Given the description of an element on the screen output the (x, y) to click on. 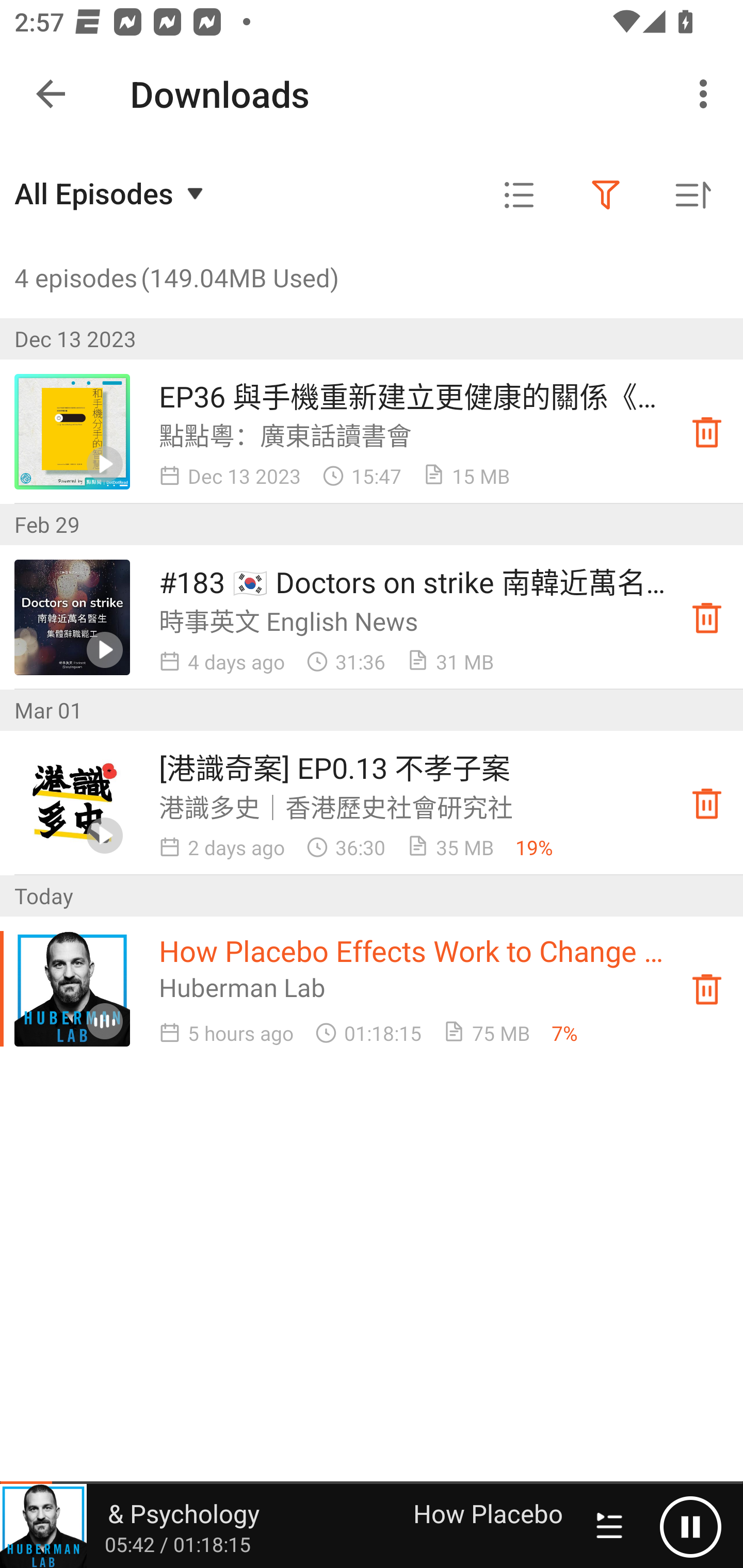
5.0 Downloading 1 episode VIEW (371, 88)
Navigate up (50, 93)
More options (706, 93)
All Episodes (111, 192)
 (518, 195)
 (605, 195)
 Sorted by oldest first (692, 195)
Downloaded (706, 431)
Downloaded (706, 617)
Downloaded (706, 802)
Downloaded (706, 988)
Pause (690, 1526)
